Given the description of an element on the screen output the (x, y) to click on. 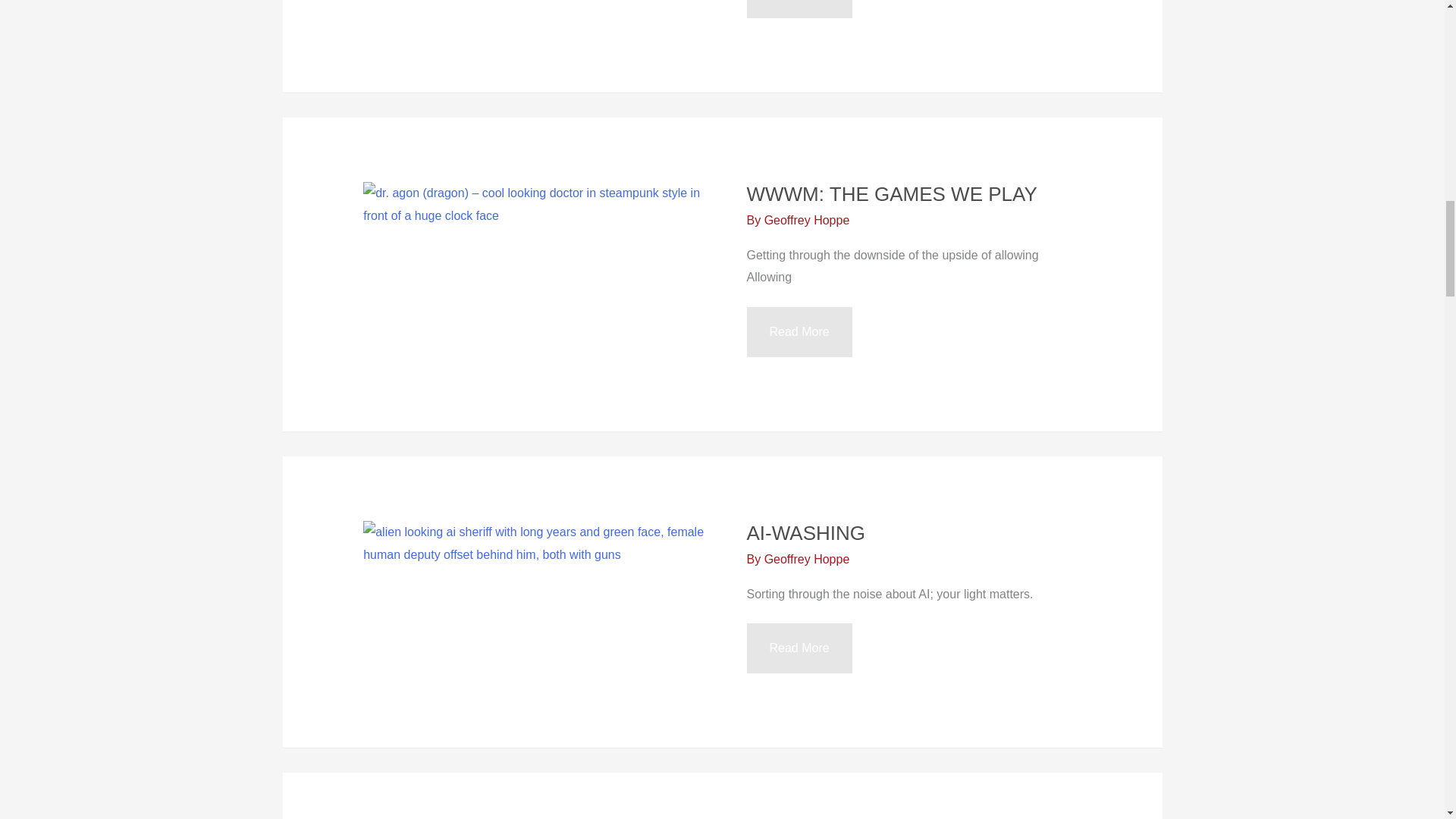
View all posts by Geoffrey Hoppe (807, 558)
Geoffrey Hoppe (798, 332)
AI-WASHING (807, 219)
WWWM: THE GAMES WE PLAY (798, 9)
View all posts by Geoffrey Hoppe (804, 532)
